Given the description of an element on the screen output the (x, y) to click on. 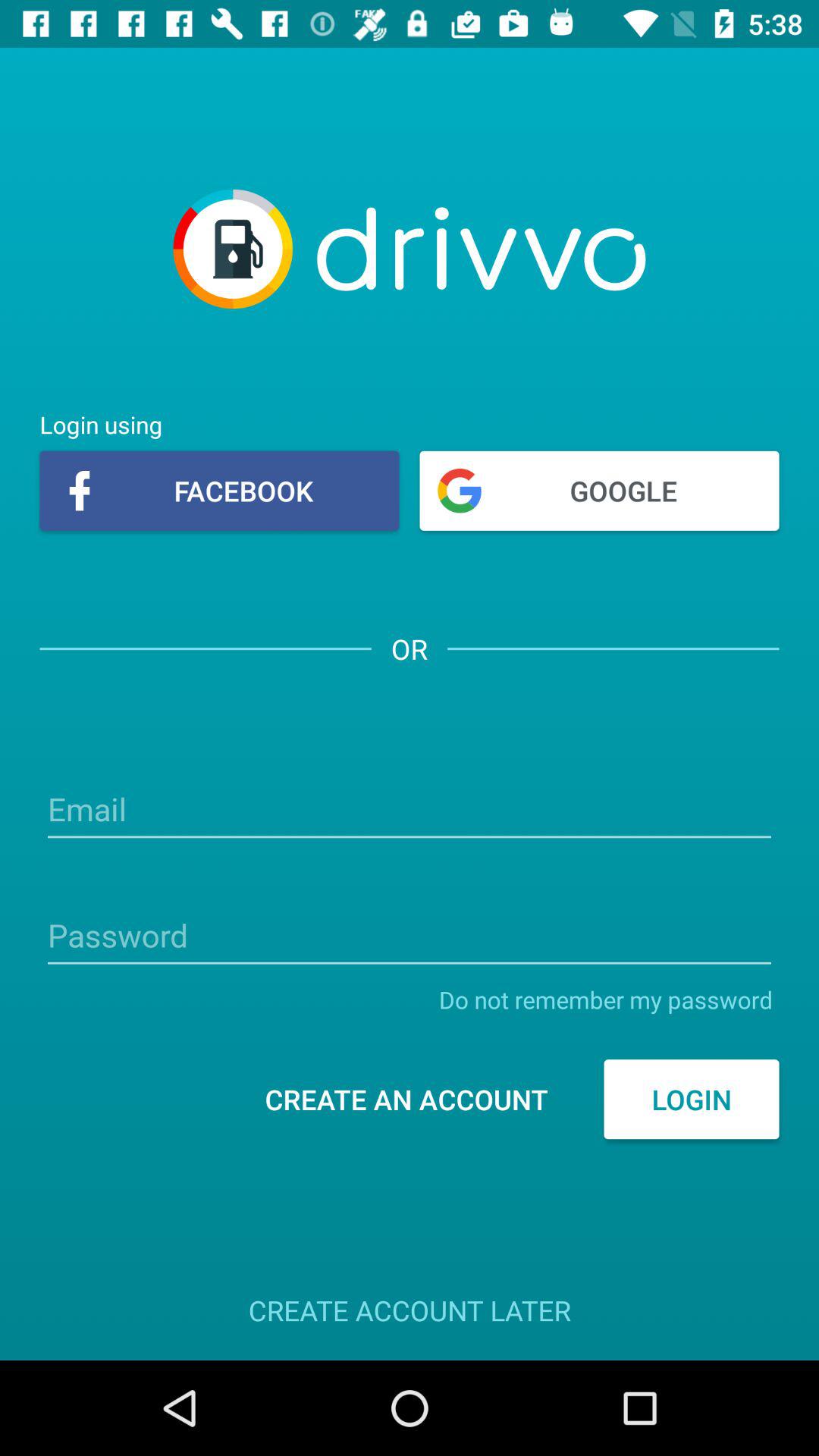
fill out password (409, 937)
